Given the description of an element on the screen output the (x, y) to click on. 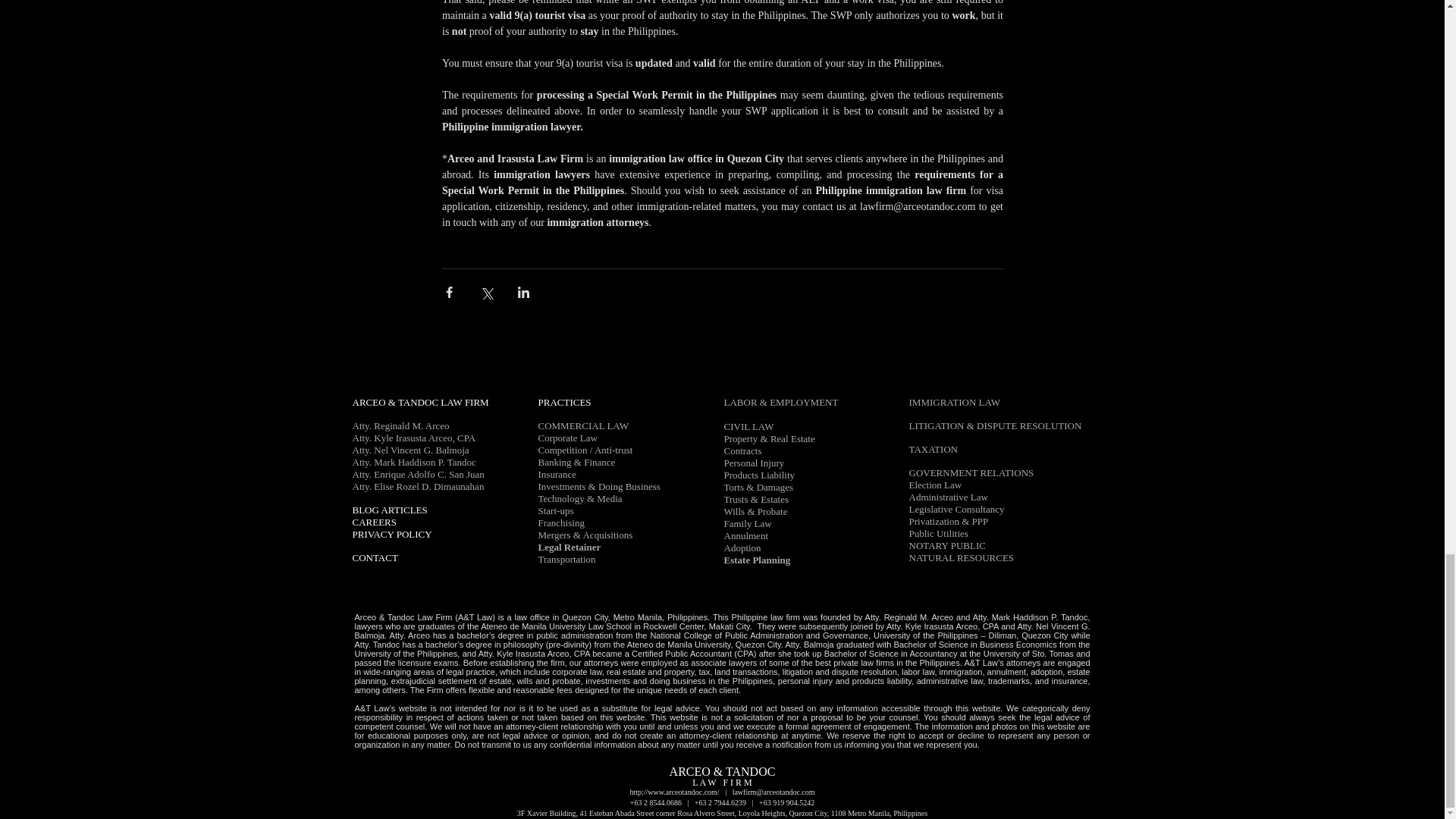
Philippine immigration lawyer (510, 126)
Philippine immigration law firm (890, 190)
immigration law office in Quezon City (696, 158)
Arceo and Irasusta Law Firm (514, 158)
immigration attorneys (597, 222)
requirements for a Special Work Permit in the Philippines (723, 182)
immigration lawyers (541, 174)
processing a Special Work Permit in the Philippines (655, 94)
